Given the description of an element on the screen output the (x, y) to click on. 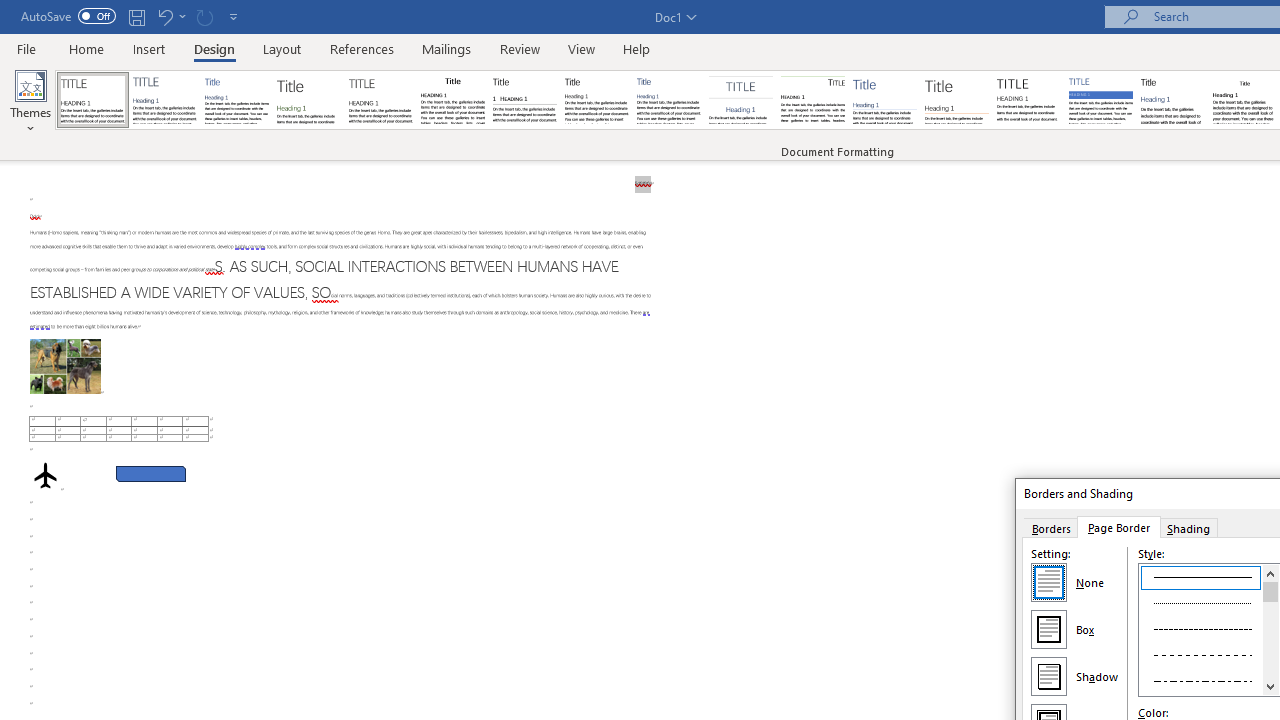
Shaded (1100, 100)
Morphological variation in six dogs (65, 366)
Shadow (1048, 676)
Document (93, 100)
Basic (Elegant) (164, 100)
Black & White (Word 2013) (596, 100)
Lines (Distinctive) (812, 100)
Minimalist (1028, 100)
